Given the description of an element on the screen output the (x, y) to click on. 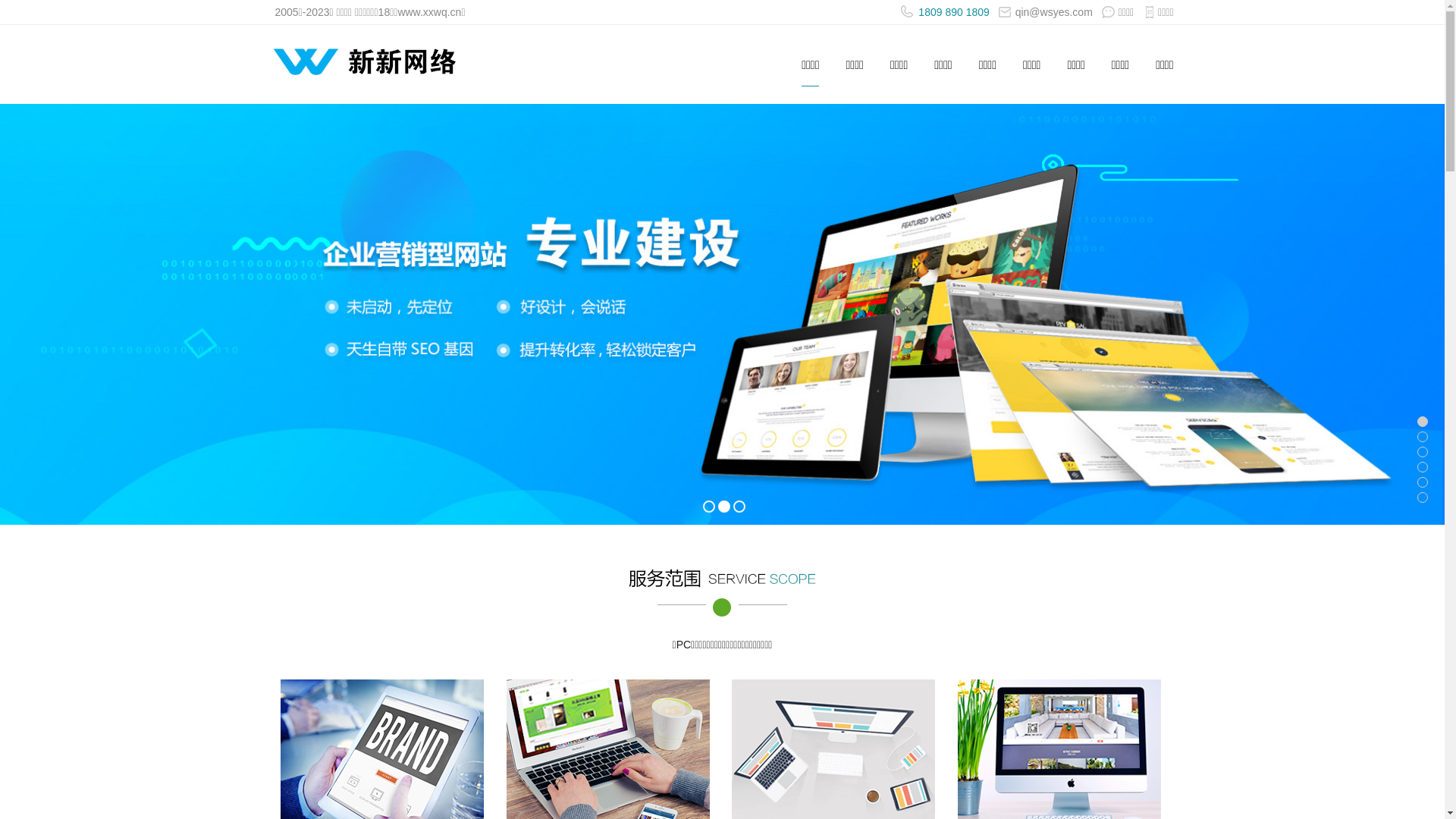
3 Element type: text (738, 506)
2 Element type: text (723, 506)
qin@wsyes.com Element type: text (1045, 12)
1 Element type: text (708, 506)
